Given the description of an element on the screen output the (x, y) to click on. 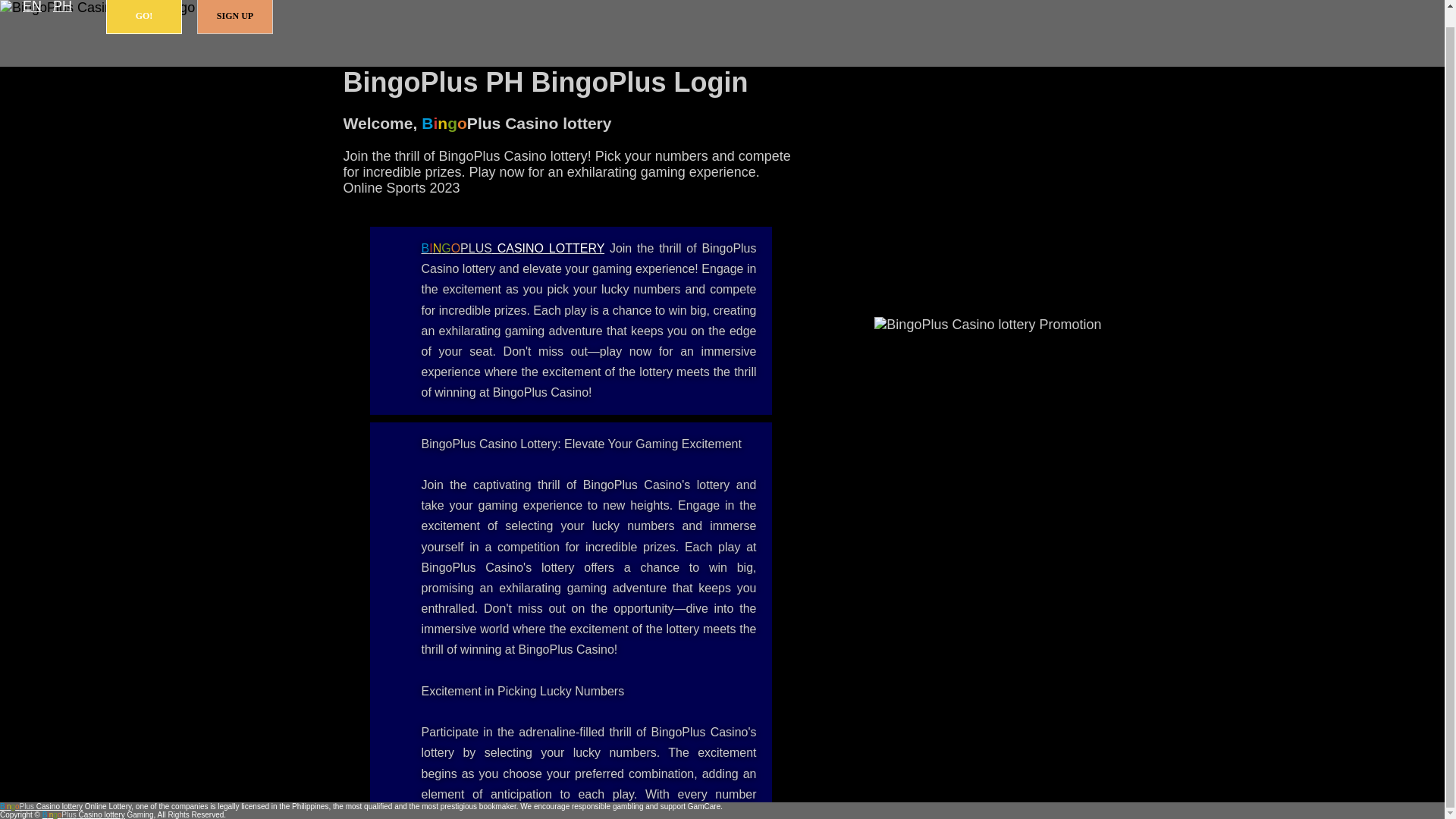
EN (32, 7)
BingoPlus Casino lottery (41, 806)
SIGN UP (234, 17)
BINGOPLUS CASINO LOTTERY (513, 247)
GO! (144, 17)
English - Filipino (32, 7)
BingoPlus Casino lottery (513, 247)
PH (61, 7)
Pilipinas - Filipino (61, 7)
